Given the description of an element on the screen output the (x, y) to click on. 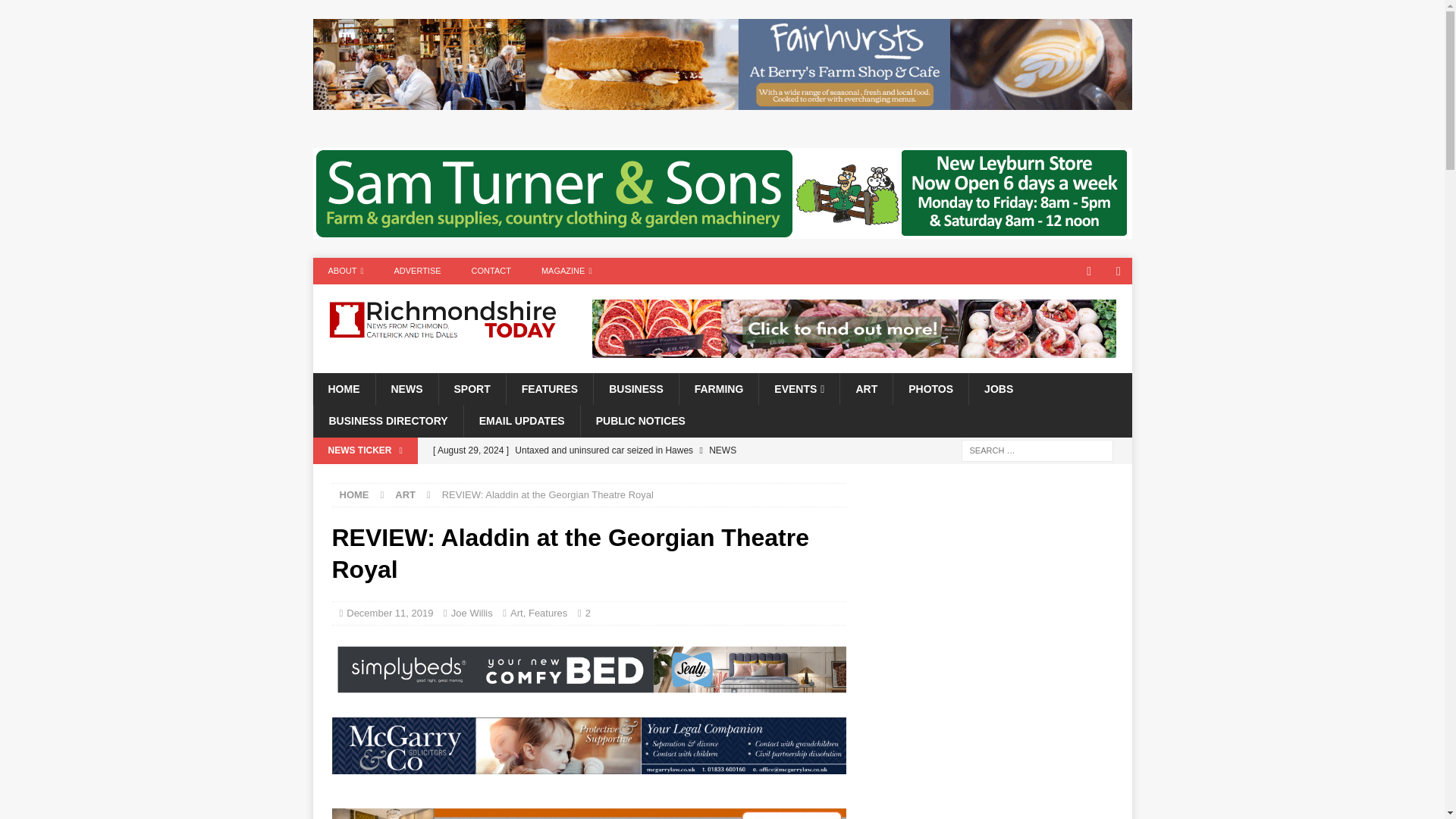
Search (56, 11)
FEATURES (548, 388)
EMAIL UPDATES (521, 420)
CONTACT (491, 270)
PHOTOS (930, 388)
FARMING (718, 388)
JOBS (997, 388)
ADVERTISE (416, 270)
ABOUT (345, 270)
